Given the description of an element on the screen output the (x, y) to click on. 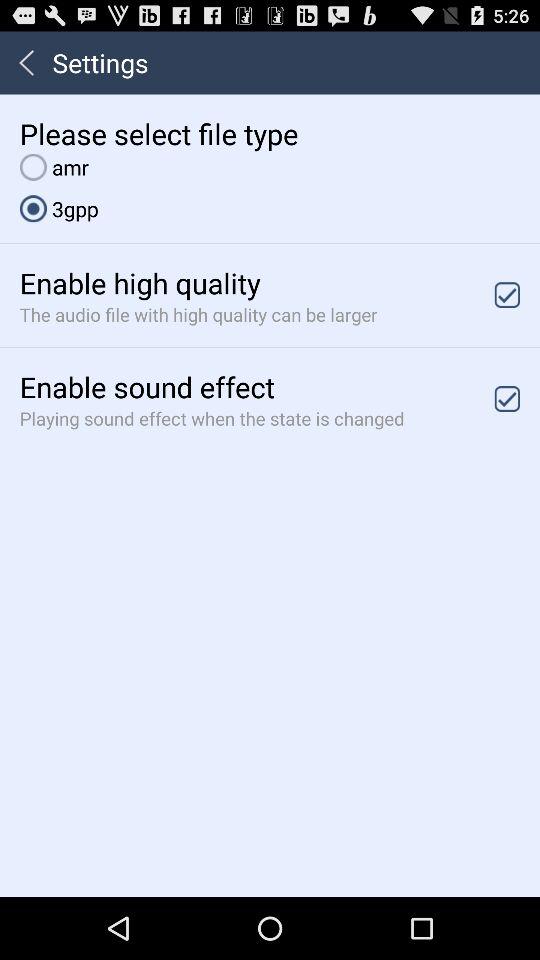
select the button which says 3gpp (58, 208)
select the text immediately below please select file type (54, 167)
